Given the description of an element on the screen output the (x, y) to click on. 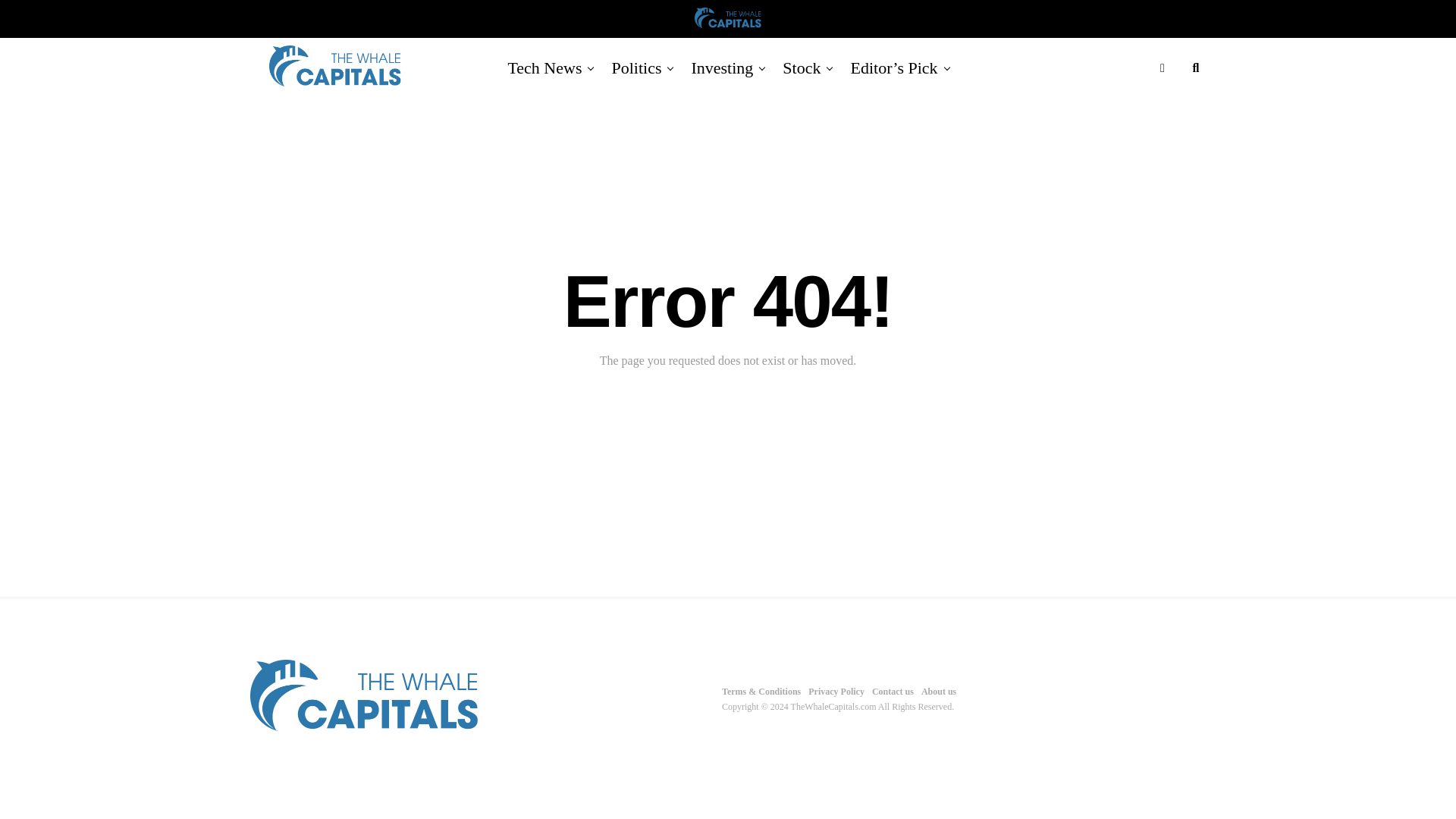
Politics (636, 67)
Tech News (544, 67)
Investing (721, 67)
